Given the description of an element on the screen output the (x, y) to click on. 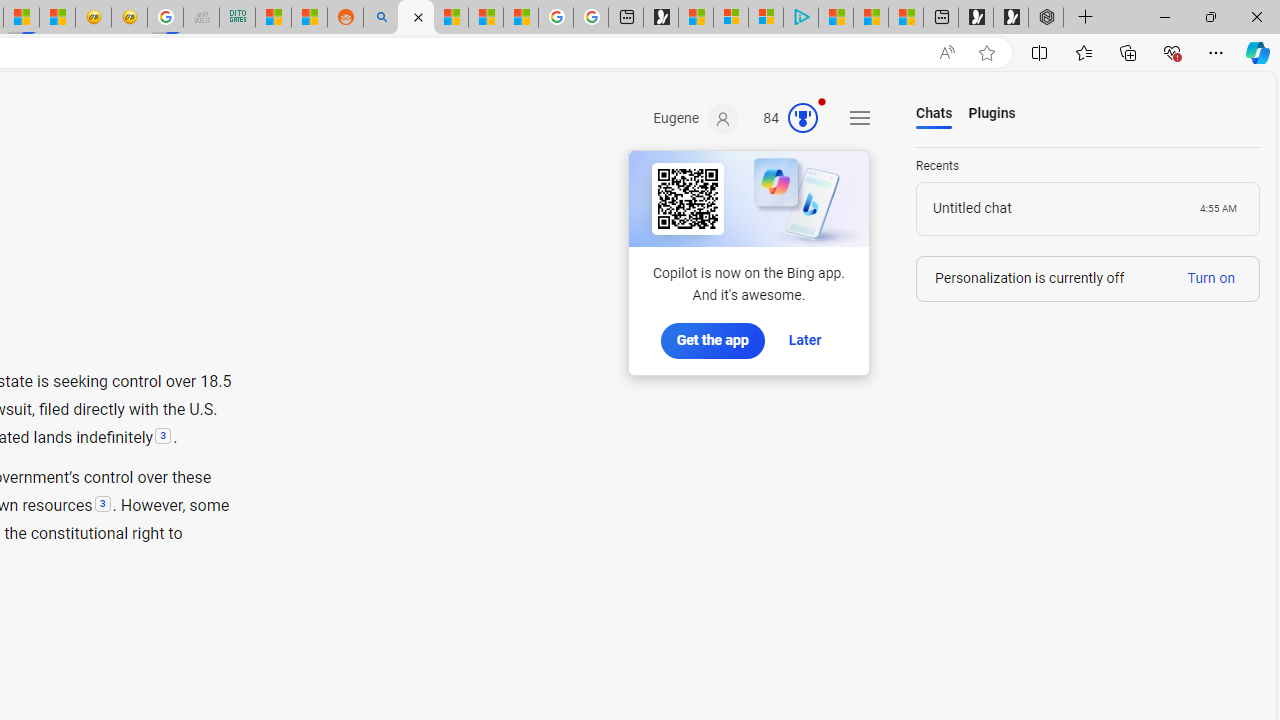
These 3 Stocks Pay You More Than 5% to Own Them (905, 17)
Animation (821, 101)
3:  (102, 505)
Microsoft Copilot in Bing (415, 17)
